Given the description of an element on the screen output the (x, y) to click on. 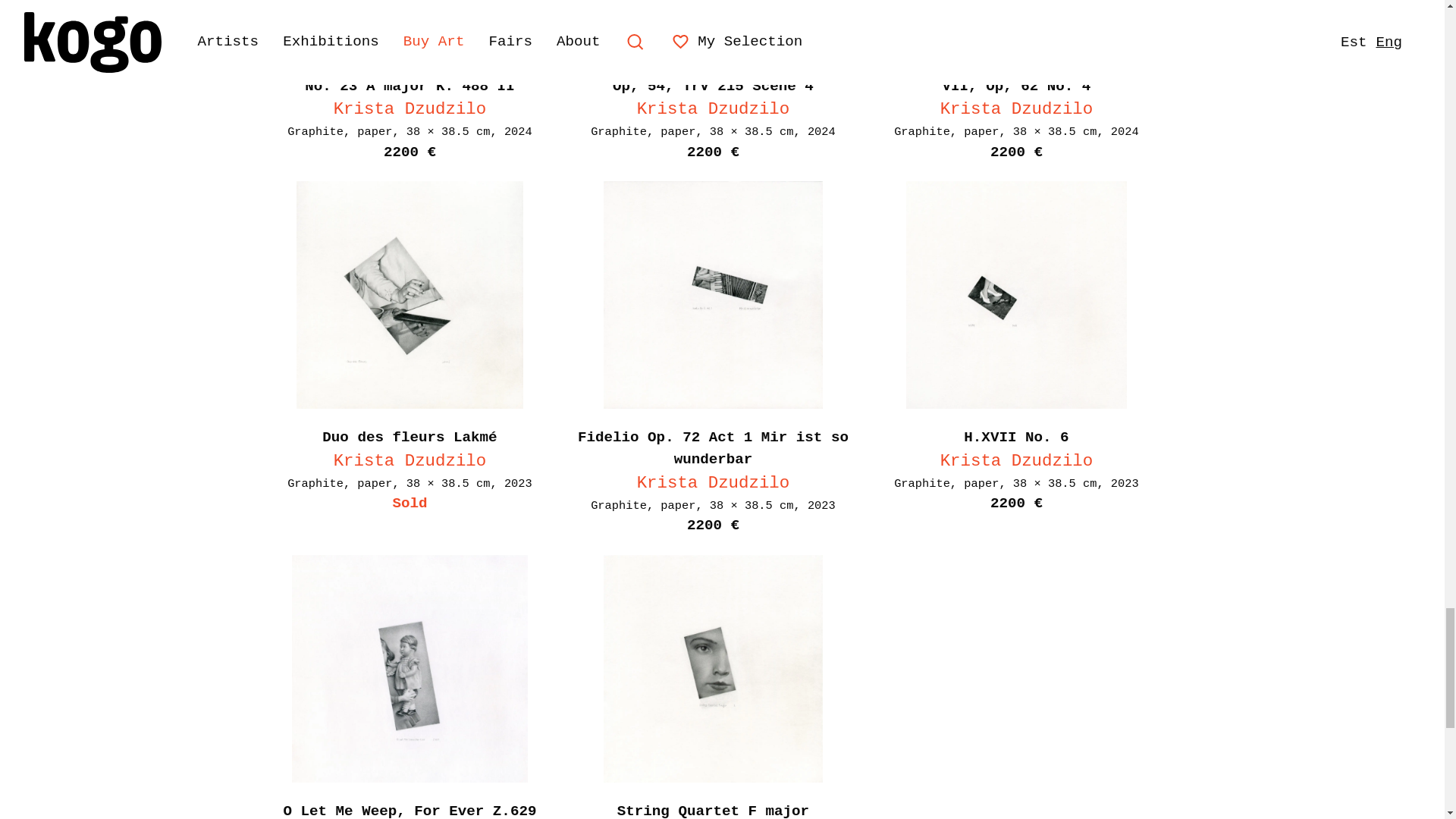
String Quartet F major (713, 811)
Op, 54, TrV 215 Scene 4 (712, 86)
VII, Op, 62 No. 4 (1016, 86)
Krista Dzudzilo (1016, 108)
